Given the description of an element on the screen output the (x, y) to click on. 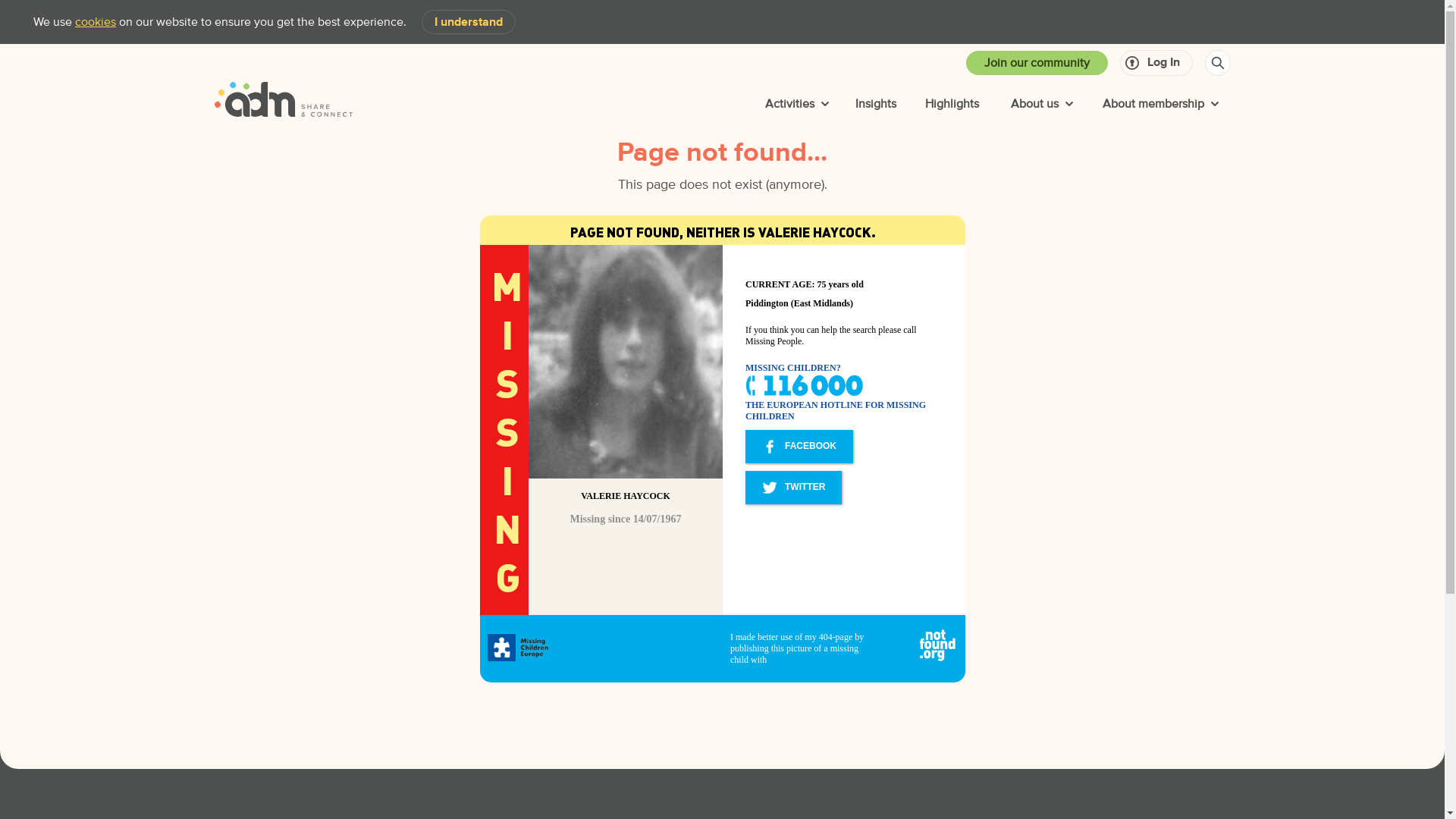
Insights Element type: text (874, 103)
About us Element type: text (1038, 103)
About membership Element type: text (1156, 103)
Log In Element type: text (1156, 62)
Activities Element type: text (794, 103)
cookies Element type: text (95, 21)
Join our community Element type: text (1036, 62)
Highlights Element type: text (951, 103)
I understand Element type: text (468, 21)
